Given the description of an element on the screen output the (x, y) to click on. 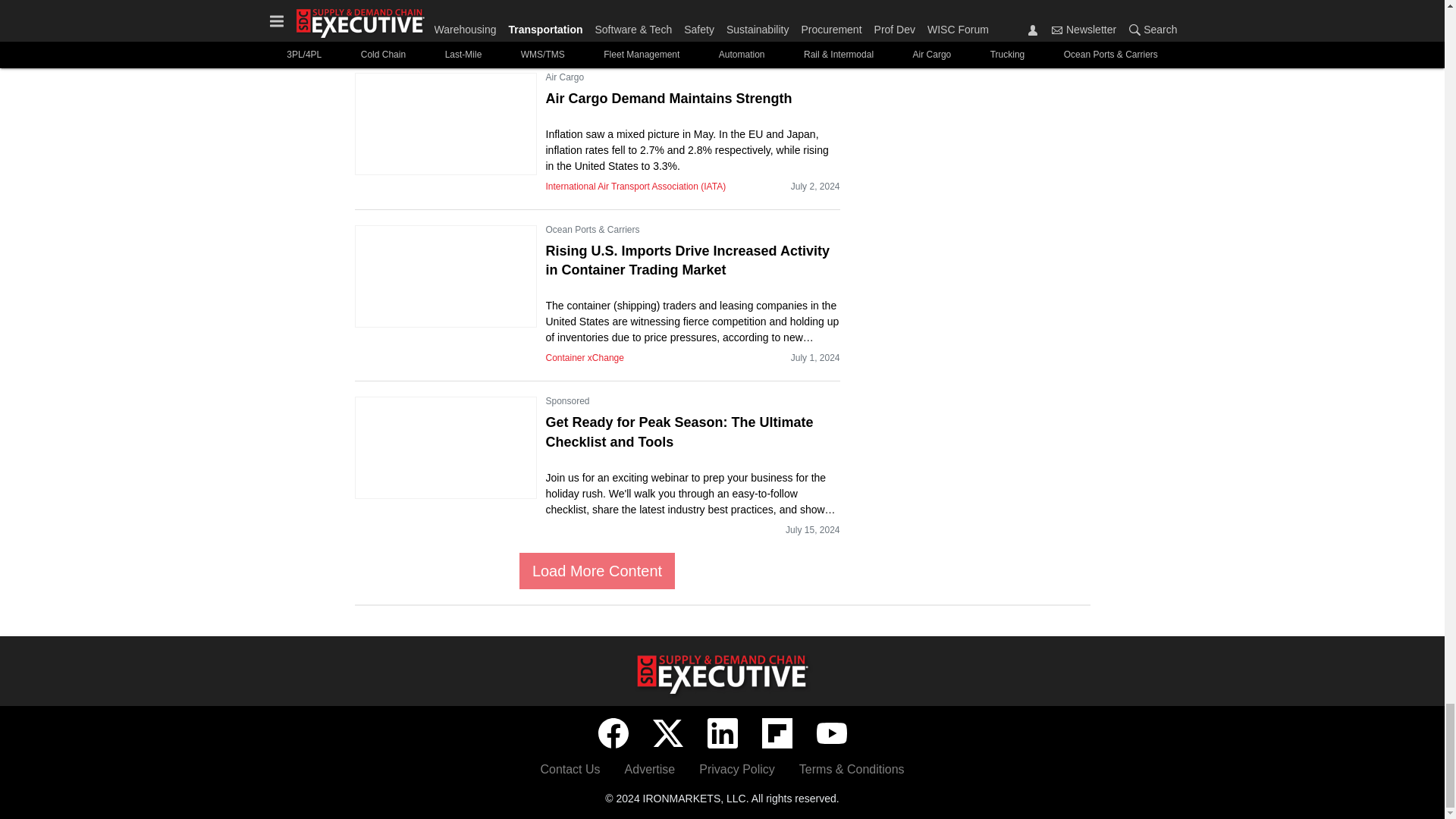
LinkedIn icon (721, 733)
Facebook icon (611, 733)
Flipboard icon (776, 733)
YouTube icon (830, 733)
Twitter X icon (667, 733)
